Given the description of an element on the screen output the (x, y) to click on. 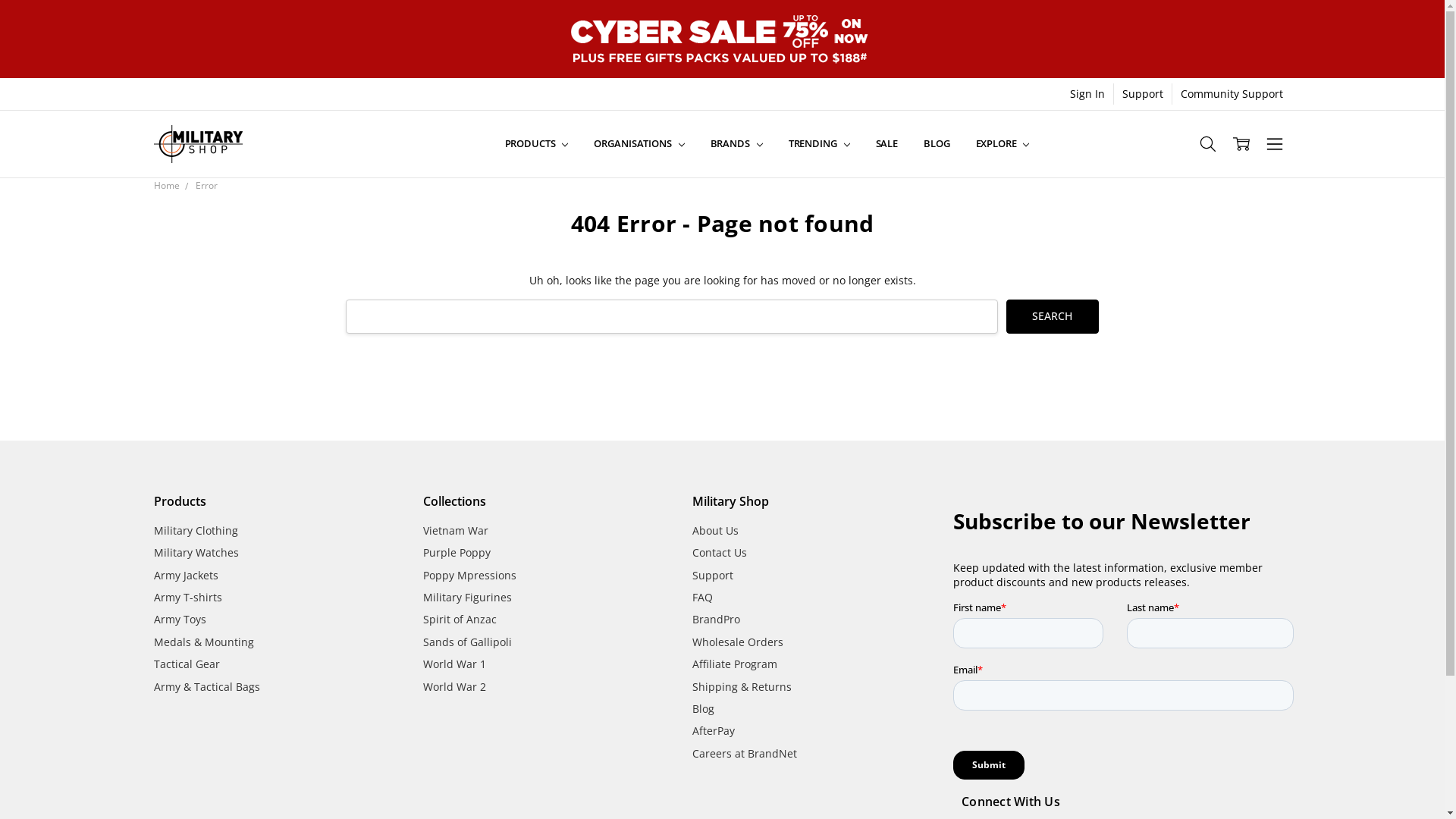
World War 2 Element type: text (454, 686)
Purple Poppy Element type: text (456, 552)
Army Toys Element type: text (179, 618)
Medals & Mounting Element type: text (203, 641)
AfterPay Element type: text (713, 730)
Error Element type: text (206, 184)
Support Element type: text (712, 574)
Form 0 Element type: hover (1126, 642)
Affiliate Program Element type: text (734, 663)
SALE Element type: text (886, 143)
World War 1 Element type: text (454, 663)
Vietnam War Element type: text (455, 530)
BrandPro Element type: text (716, 618)
Shipping & Returns Element type: text (741, 686)
Community Support Element type: text (1231, 93)
Sign In Element type: text (1087, 93)
BLOG Element type: text (936, 143)
Poppy Mpressions Element type: text (469, 574)
FAQ Element type: text (702, 596)
Military Shop Element type: hover (197, 144)
Army Jackets Element type: text (185, 574)
Tactical Gear Element type: text (186, 663)
PRODUCTS Element type: text (536, 143)
EXPLORE Element type: text (1002, 143)
Search Element type: text (1052, 316)
ORGANISATIONS Element type: text (638, 143)
Military Watches Element type: text (195, 552)
Contact Us Element type: text (719, 552)
Blog Element type: text (703, 708)
About Us Element type: text (715, 530)
Careers at BrandNet Element type: text (744, 753)
Military Figurines Element type: text (467, 596)
Sands of Gallipoli Element type: text (467, 641)
Army & Tactical Bags Element type: text (206, 686)
Military Clothing Element type: text (195, 530)
Wholesale Orders Element type: text (737, 641)
BRANDS Element type: text (736, 143)
Support Element type: text (1142, 93)
Home Element type: text (165, 184)
Spirit of Anzac Element type: text (459, 618)
TRENDING Element type: text (818, 143)
Army T-shirts Element type: text (187, 596)
